Given the description of an element on the screen output the (x, y) to click on. 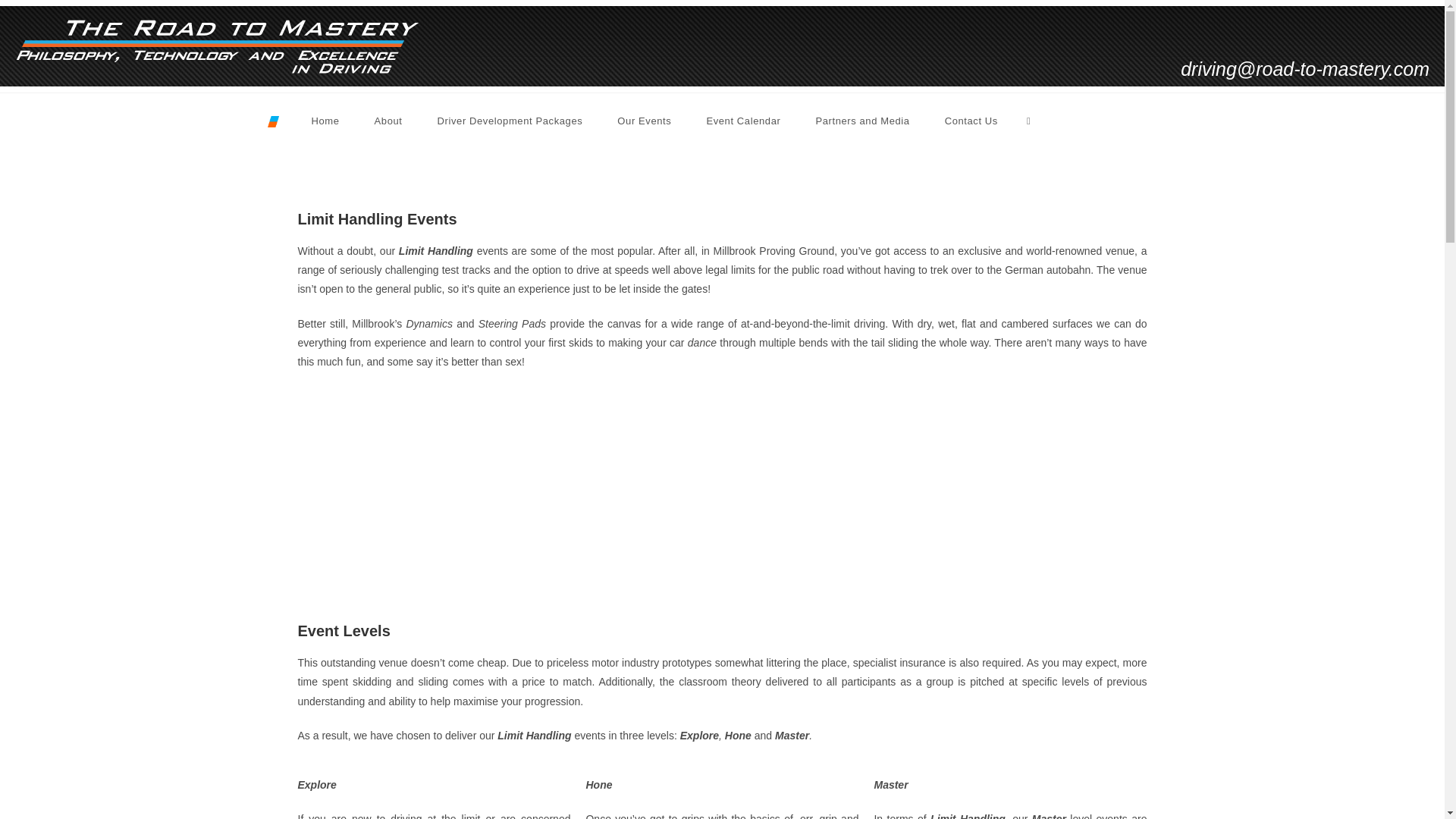
Our Events (643, 121)
Home (325, 121)
About (388, 121)
Driver Development Packages (509, 121)
Event Calendar (742, 121)
